Given the description of an element on the screen output the (x, y) to click on. 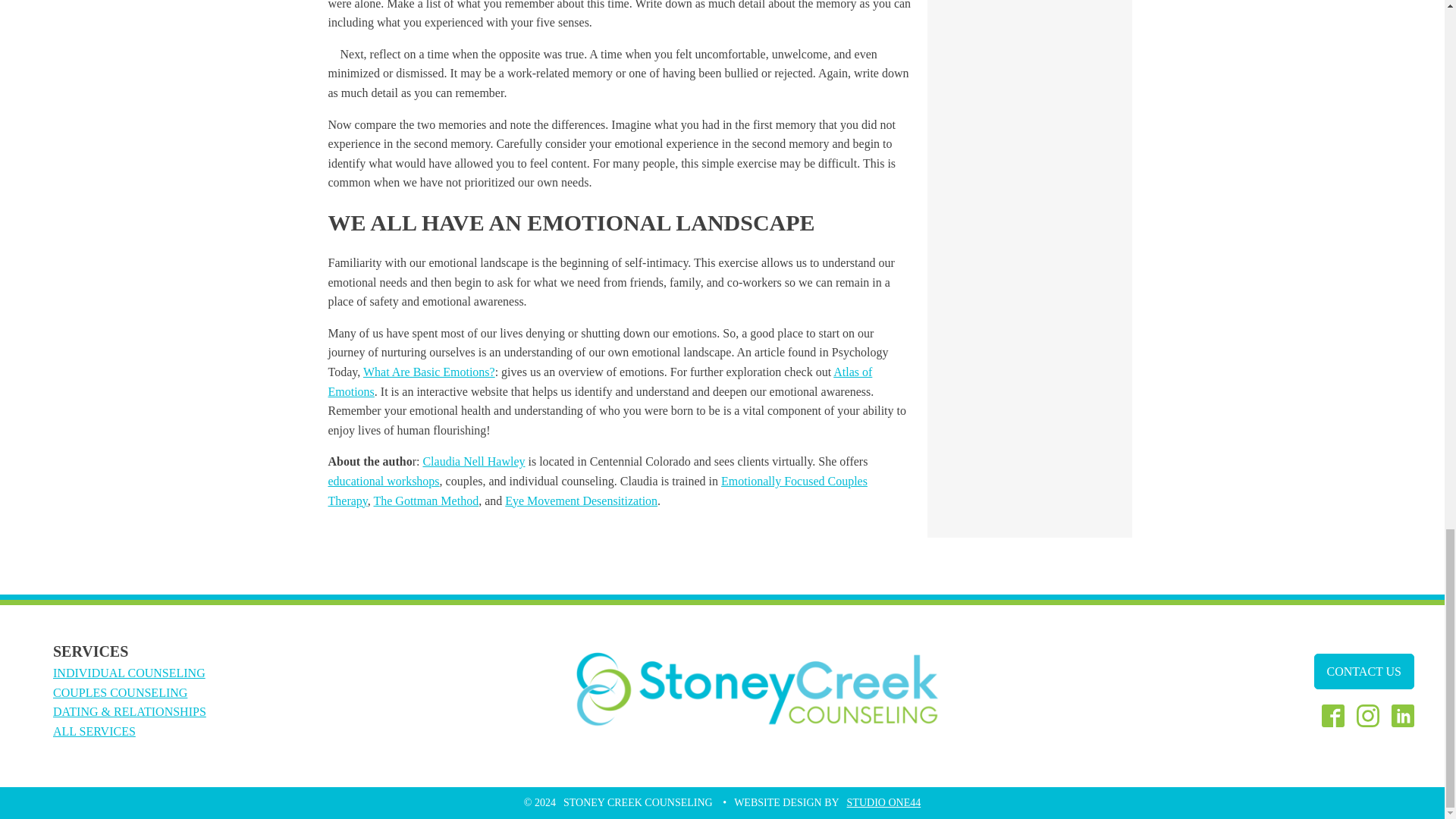
COUPLES COUNSELING (119, 692)
INDIVIDUAL COUNSELING (128, 673)
Eye Movement Desensitization (581, 500)
STUDIO ONE44 (884, 802)
Atlas of Emotions (599, 381)
The Gottman Method (425, 500)
CONTACT US (1363, 671)
Emotionally Focused Couples Therapy (596, 490)
What Are Basic Emotions? (428, 371)
educational workshops (383, 481)
ALL SERVICES (93, 731)
Claudia Nell Hawley (473, 461)
